Given the description of an element on the screen output the (x, y) to click on. 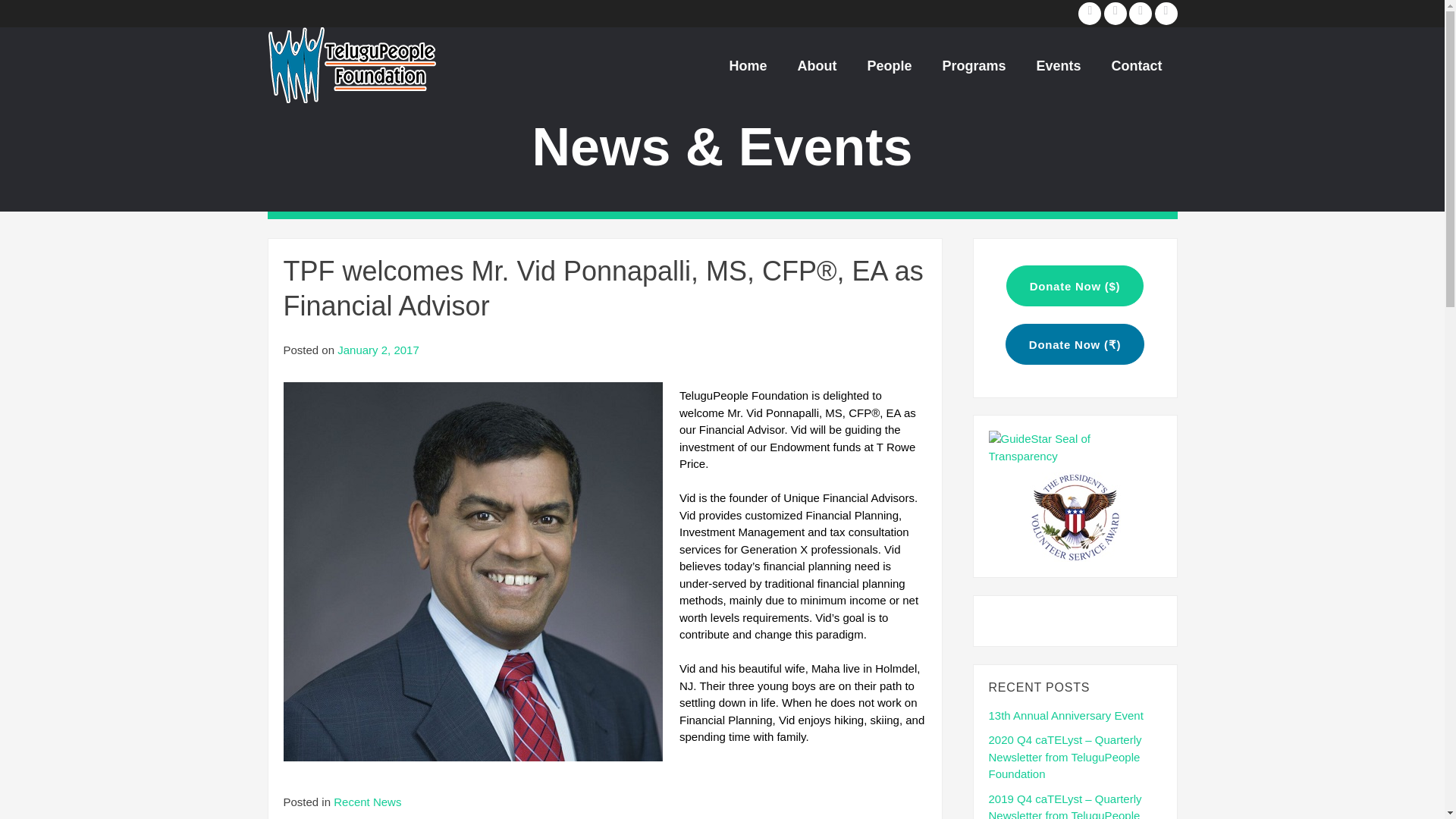
Home (747, 65)
January 2, 2017 (378, 349)
People (888, 65)
TeluguPeople Foundation (350, 63)
Contact (1136, 65)
About (816, 65)
Programs (973, 65)
Events (1058, 65)
